Given the description of an element on the screen output the (x, y) to click on. 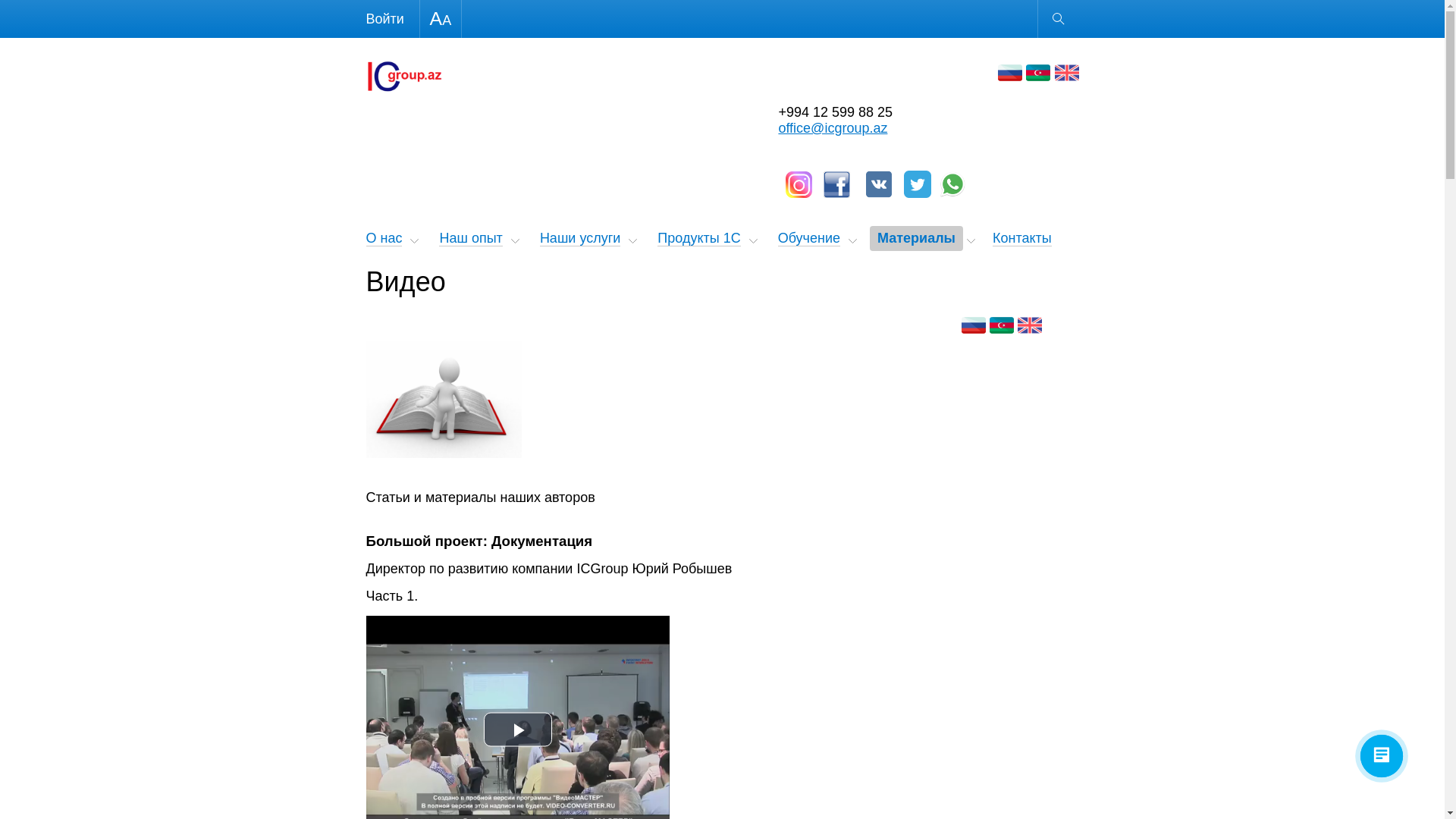
Play Video Element type: text (517, 729)
twitter Element type: hover (917, 183)
VK Element type: hover (878, 183)
instagram Element type: hover (798, 184)
Azerbaijani version Element type: hover (1038, 72)
office@icgroup.az Element type: text (832, 127)
Azerbaijani version Element type: hover (1001, 325)
Russian version Element type: hover (973, 325)
English version Element type: hover (1066, 72)
English version Element type: hover (1029, 325)
logo.png Element type: hover (403, 76)
Russian version Element type: hover (1009, 72)
Whatsapp Element type: hover (952, 183)
facebook.png Element type: hover (836, 184)
